Given the description of an element on the screen output the (x, y) to click on. 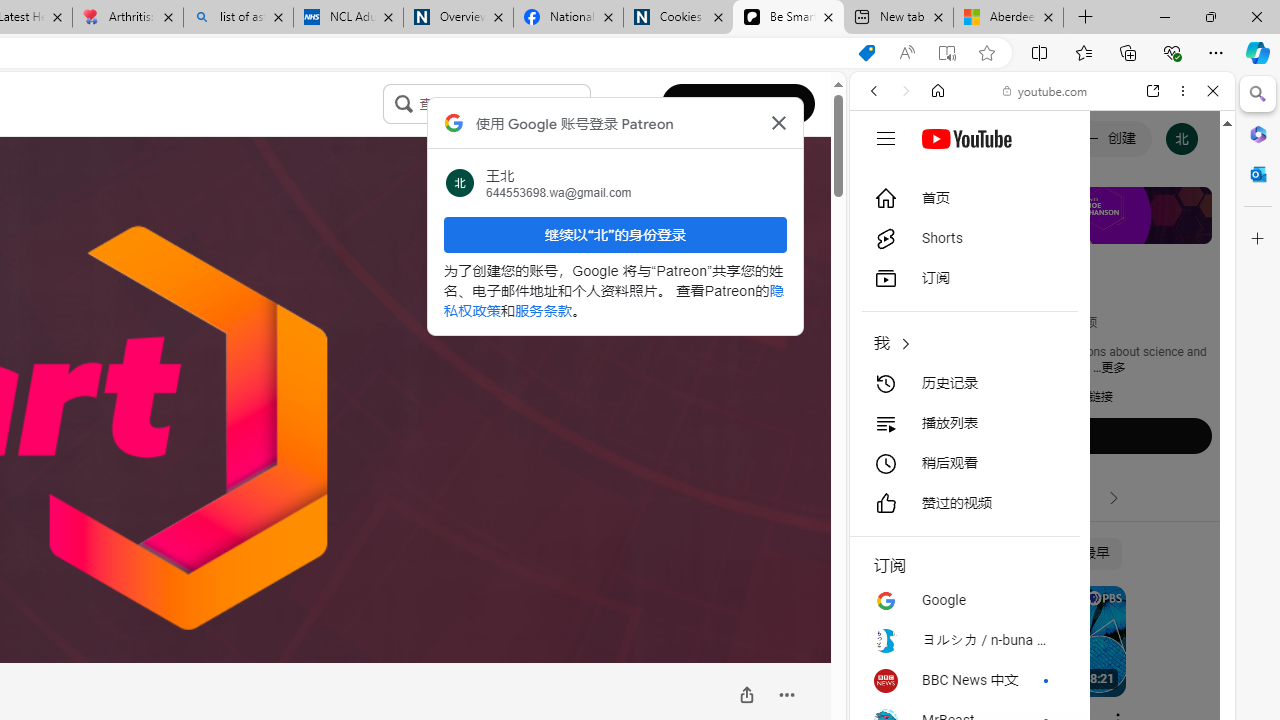
Music (1042, 543)
VIDEOS (1006, 228)
Close Outlook pane (1258, 174)
Preferences (1189, 228)
